Given the description of an element on the screen output the (x, y) to click on. 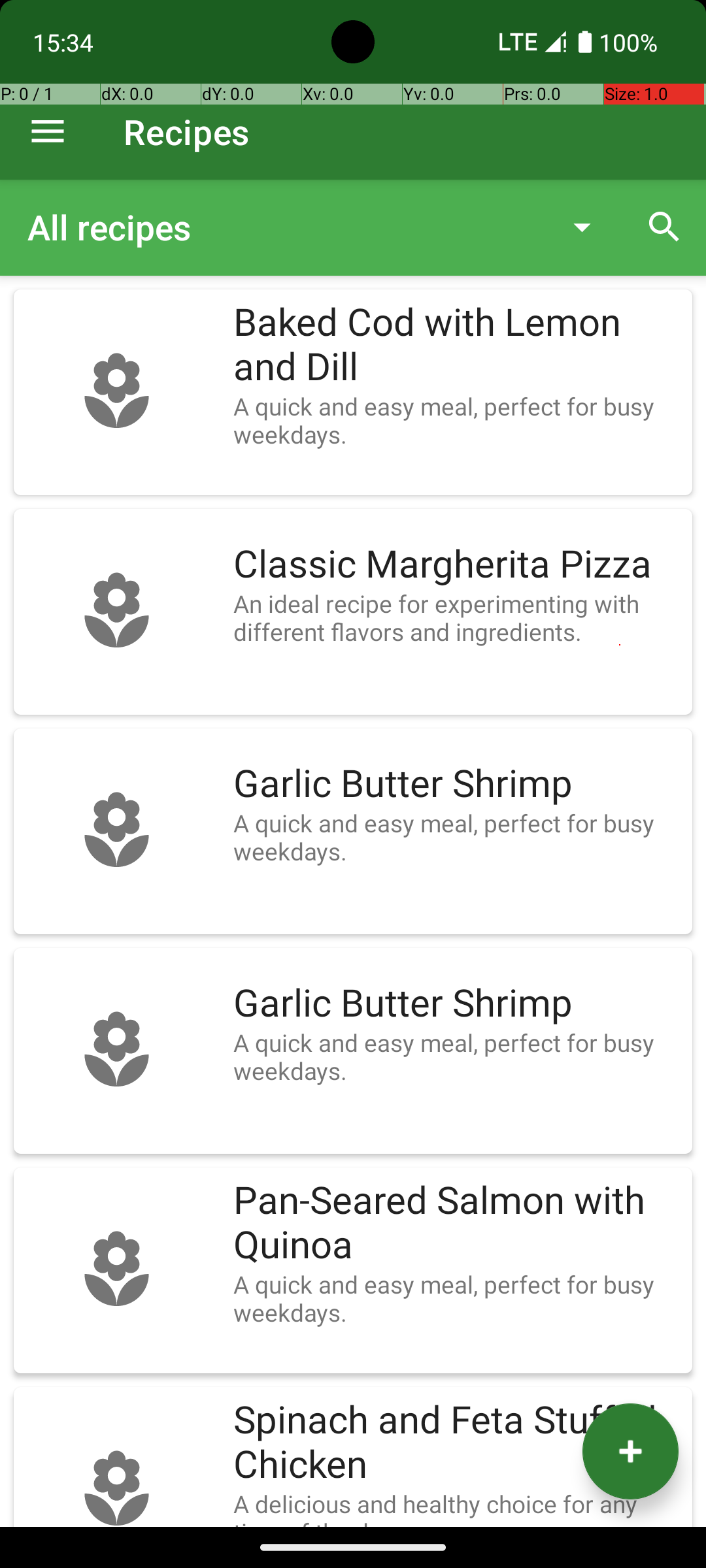
Garlic Butter Shrimp Element type: android.widget.TextView (455, 783)
Pan-Seared Salmon with Quinoa Element type: android.widget.TextView (455, 1222)
Spinach and Feta Stuffed Chicken Element type: android.widget.TextView (455, 1442)
